Given the description of an element on the screen output the (x, y) to click on. 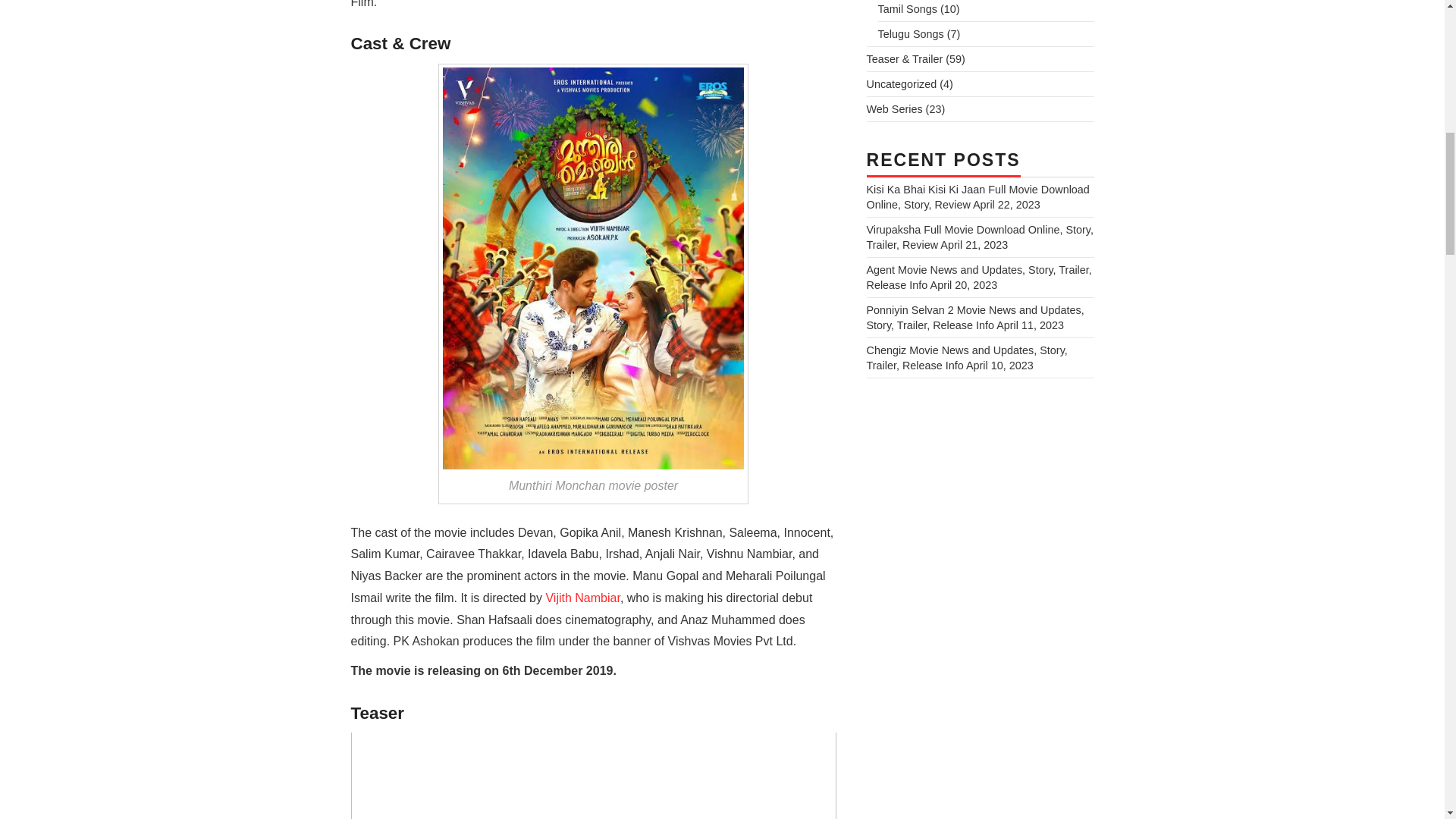
Vijith Nambiar (582, 597)
